Given the description of an element on the screen output the (x, y) to click on. 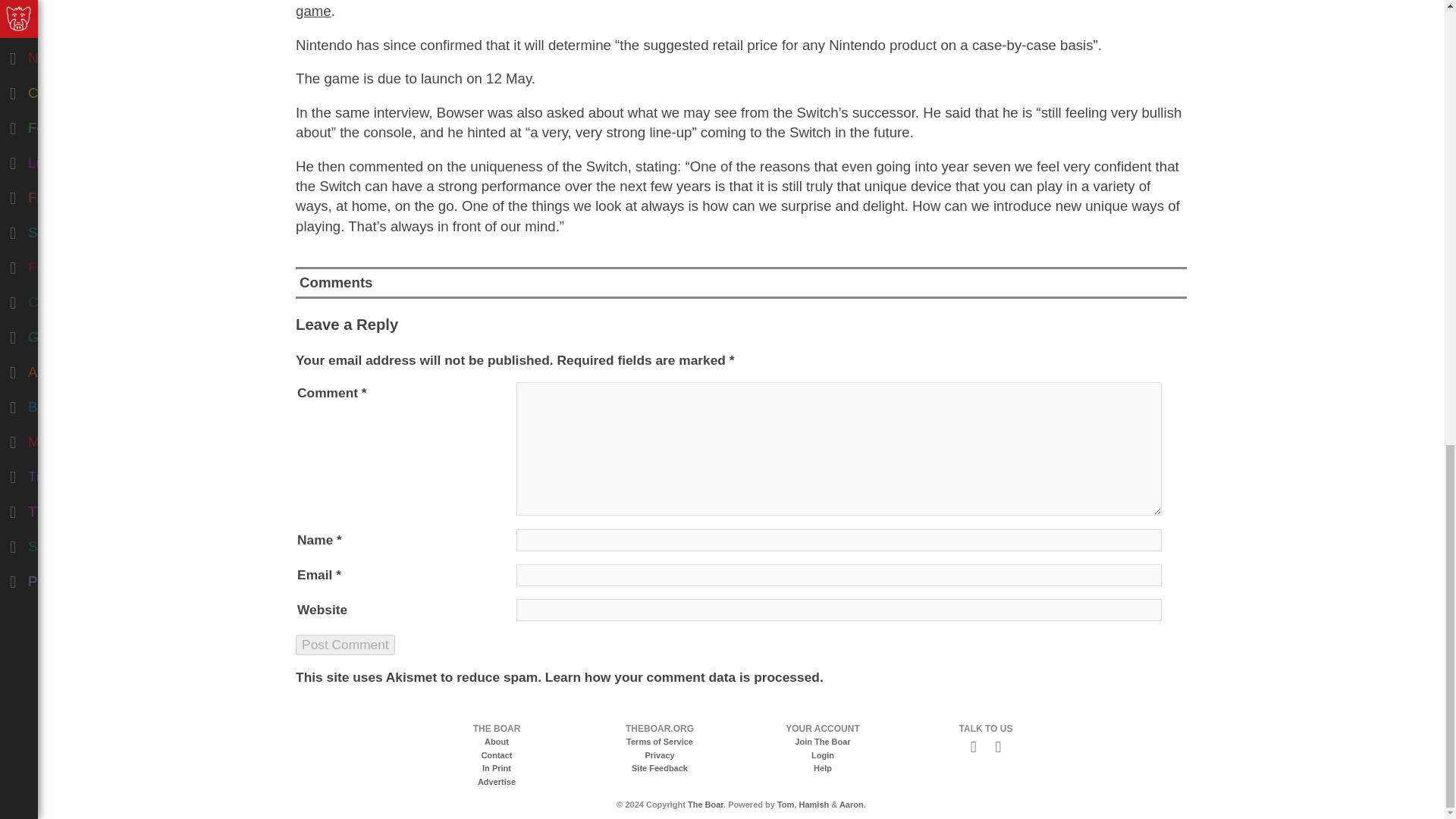
The Boar (705, 804)
Post Comment (344, 644)
Login (822, 755)
Post Comment (344, 644)
